Given the description of an element on the screen output the (x, y) to click on. 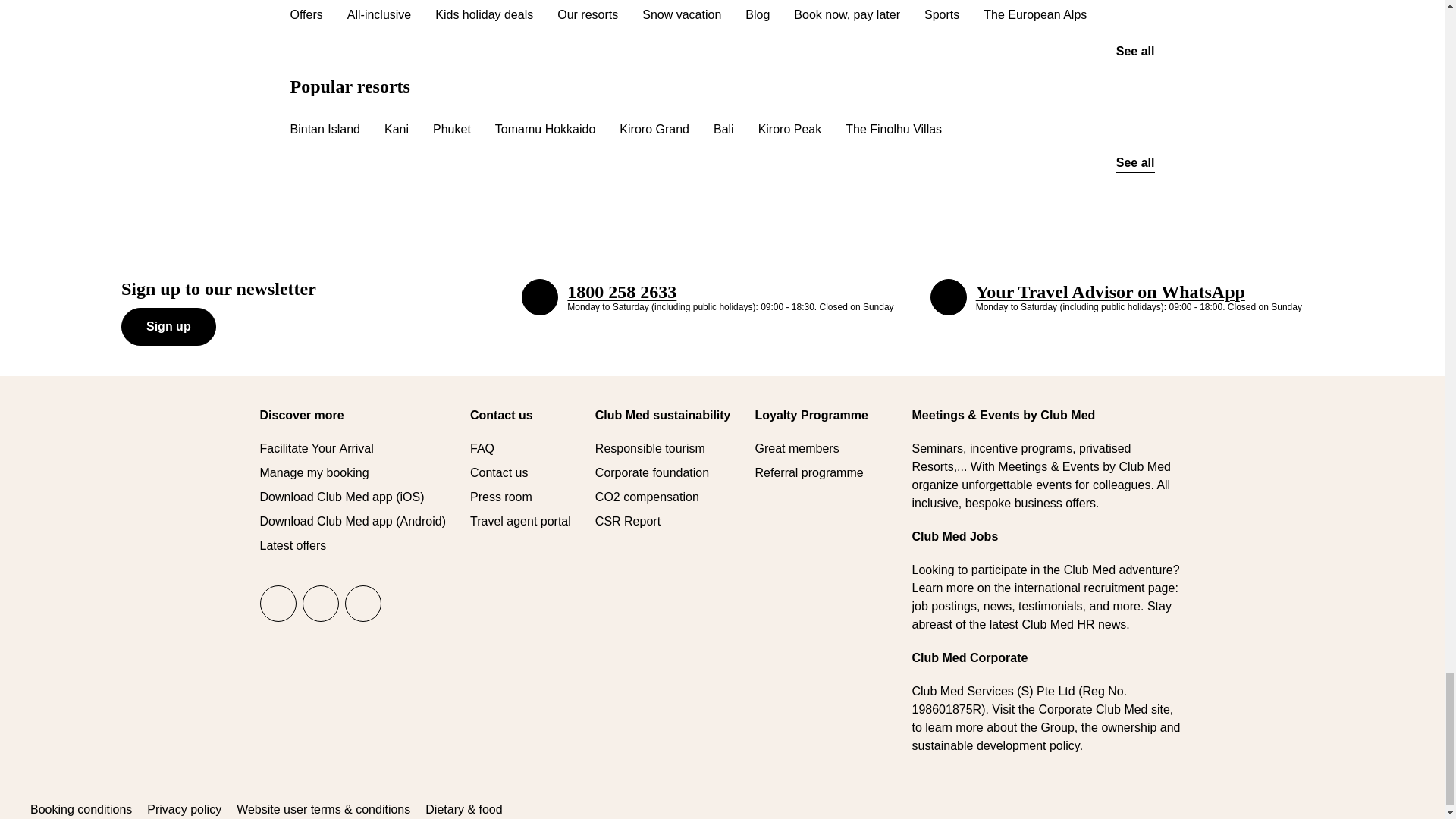
Your Travel Advisor on WhatsApp (948, 297)
1800 258 2633 (539, 297)
Sign up (167, 326)
